Given the description of an element on the screen output the (x, y) to click on. 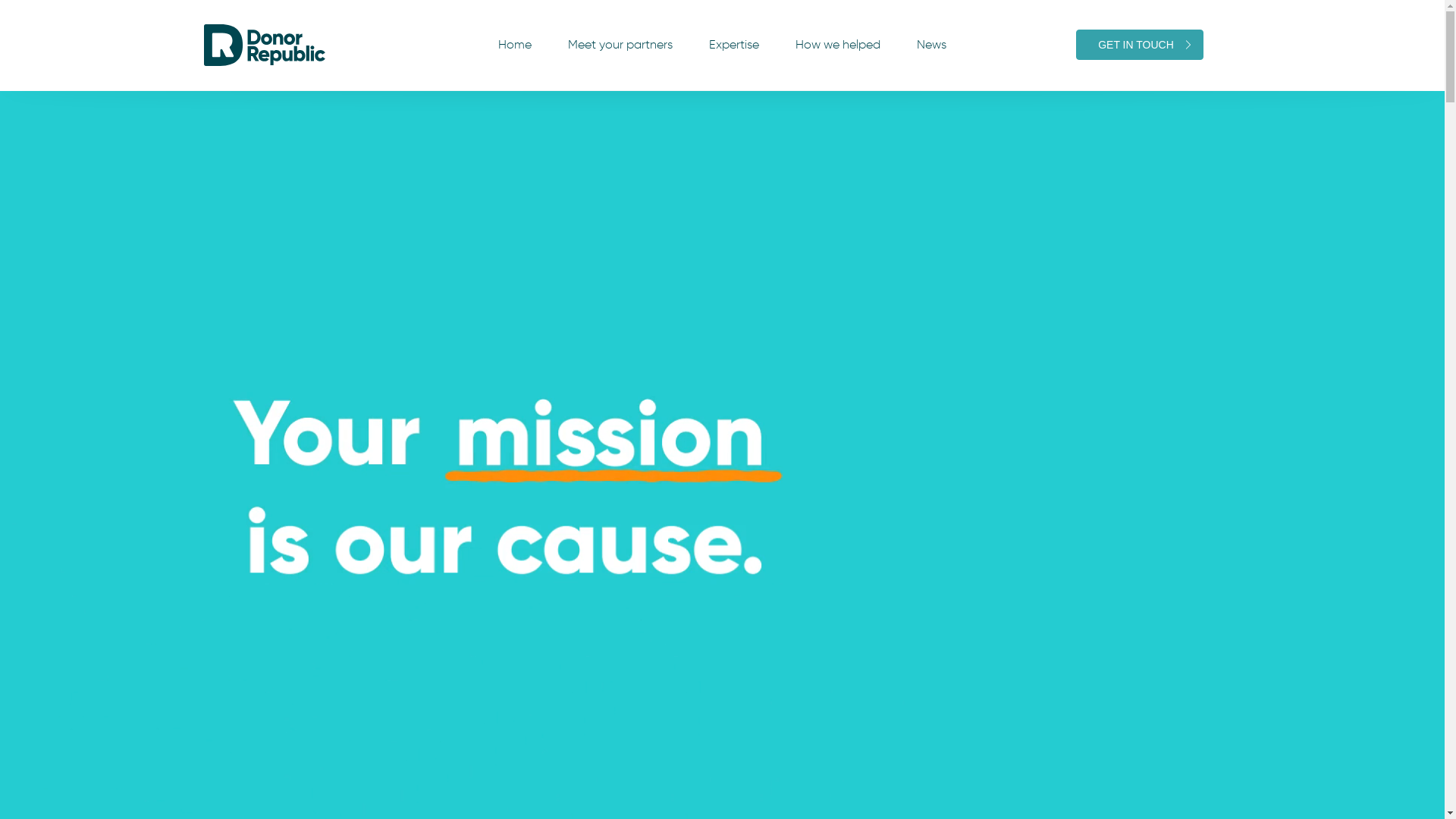
Meet your partners Element type: text (619, 44)
Expertise Element type: text (733, 44)
Home Element type: text (514, 44)
News Element type: text (931, 44)
How we helped Element type: text (837, 44)
